Given the description of an element on the screen output the (x, y) to click on. 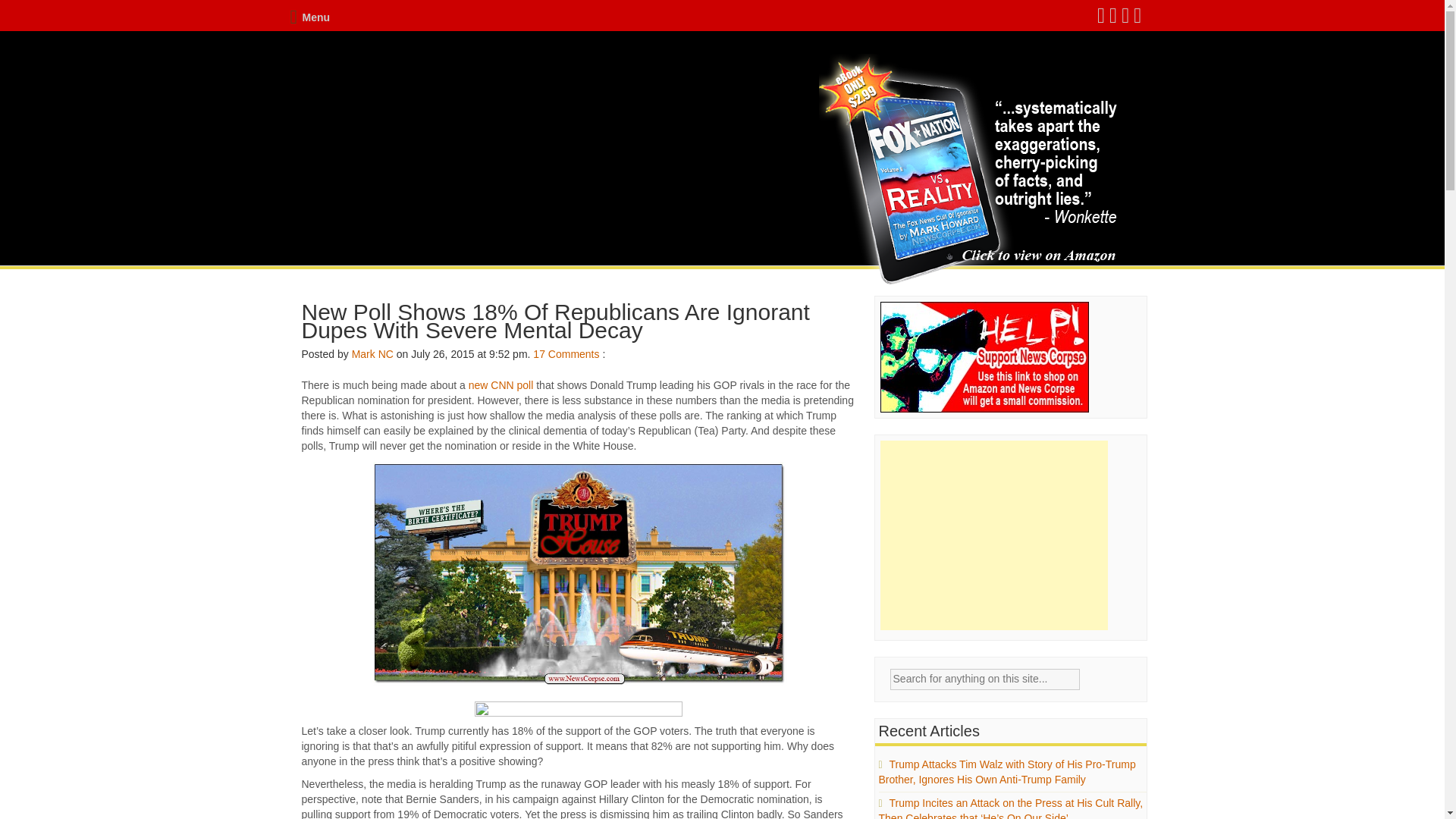
Share on Facebook (578, 708)
Mark NC (372, 354)
Posts by Mark NC (372, 354)
Menu (309, 17)
17 (538, 354)
Fox Nation vs. Reality (971, 170)
Comments (573, 354)
new CNN poll (501, 385)
